Given the description of an element on the screen output the (x, y) to click on. 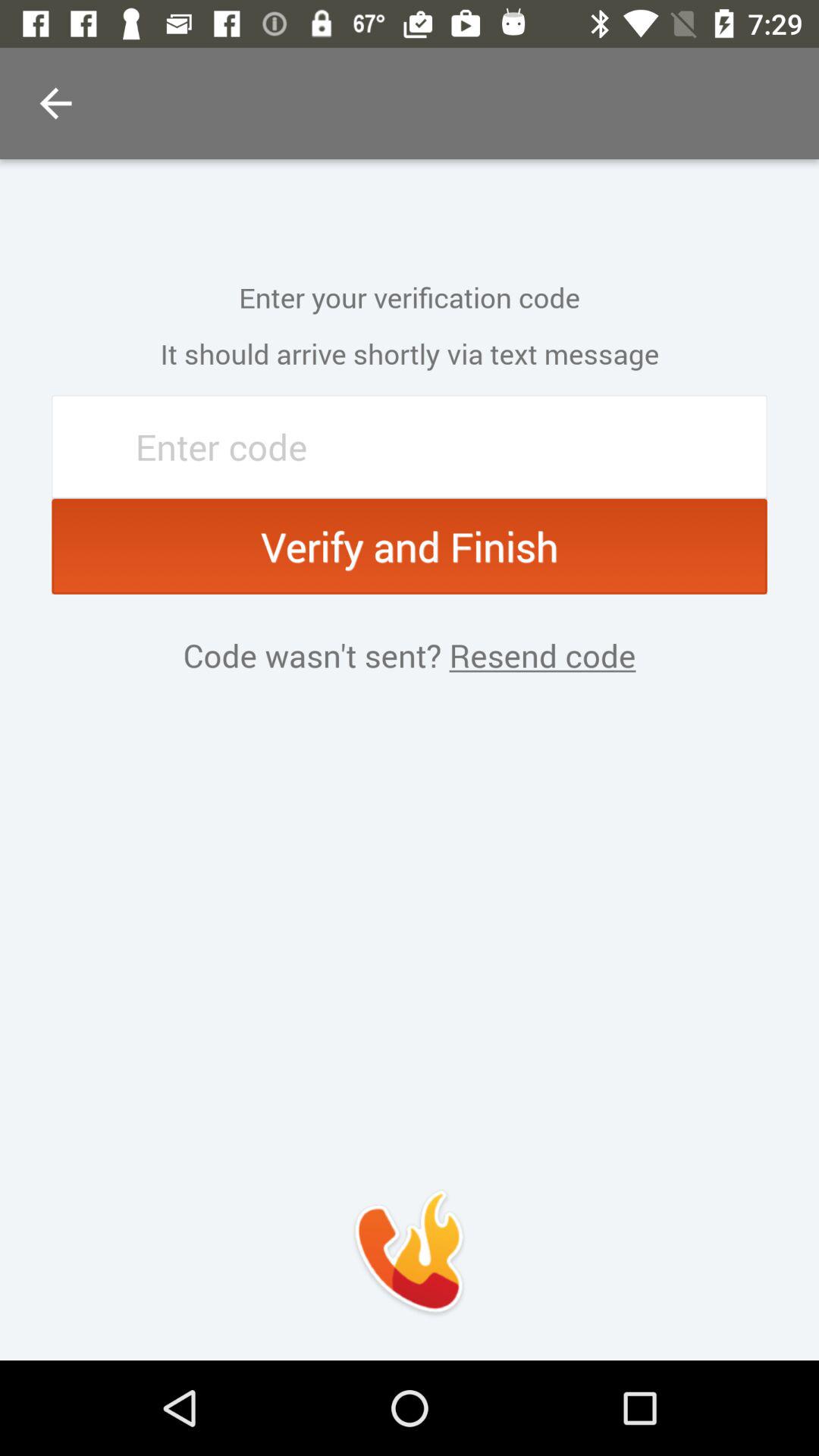
turn on item above enter your verification item (55, 103)
